Given the description of an element on the screen output the (x, y) to click on. 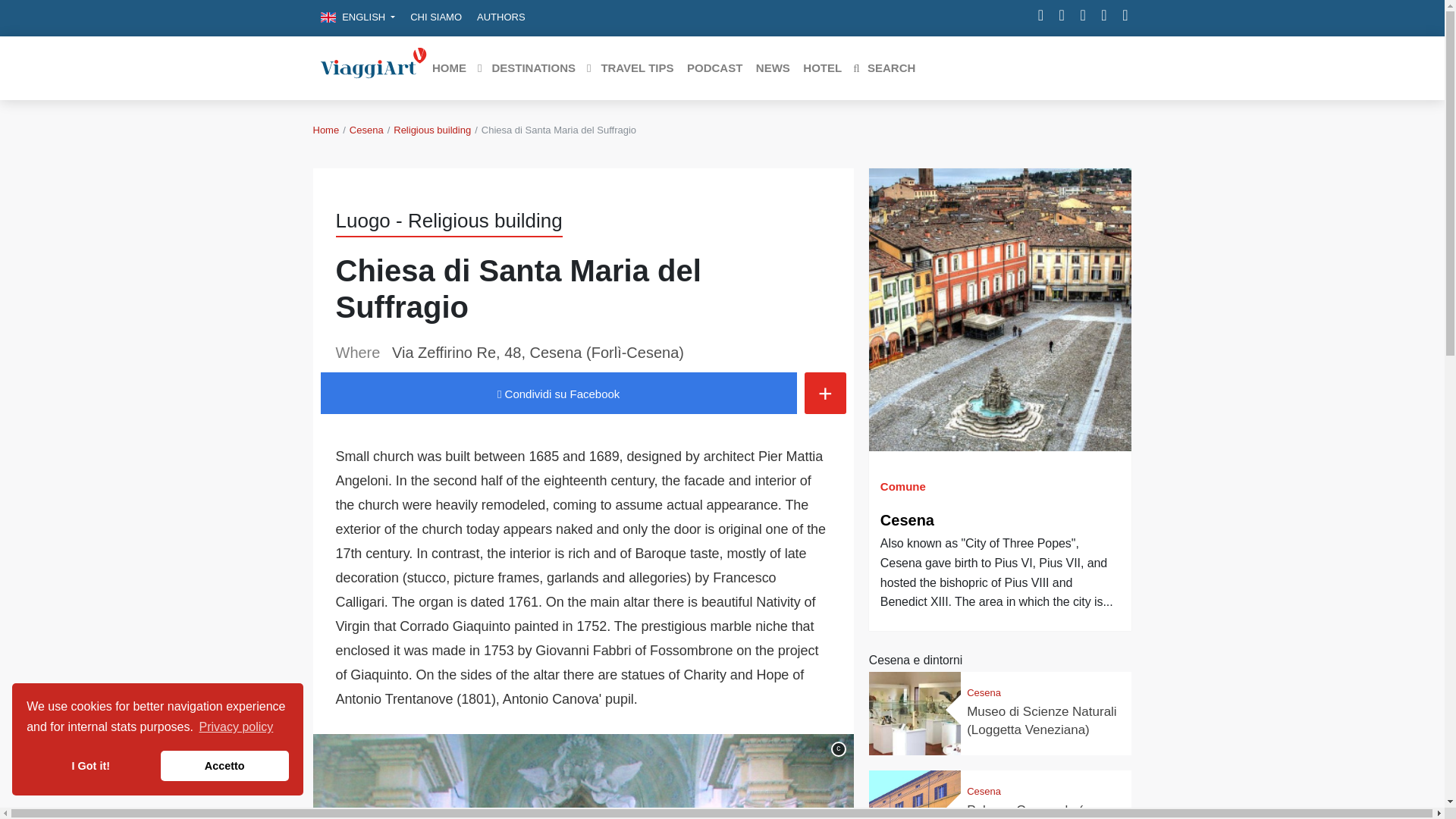
ENGLISH (358, 17)
Privacy policy (235, 726)
ViaggiArt (373, 66)
CHI SIAMO (435, 16)
Chi siamo (435, 16)
Cesena (366, 130)
I Got it! (90, 766)
Home (326, 130)
Authors (500, 16)
AUTHORS (500, 16)
Accetto (224, 766)
HOME (448, 68)
Religious building (431, 130)
DESTINATIONS (526, 68)
Search (883, 68)
